Given the description of an element on the screen output the (x, y) to click on. 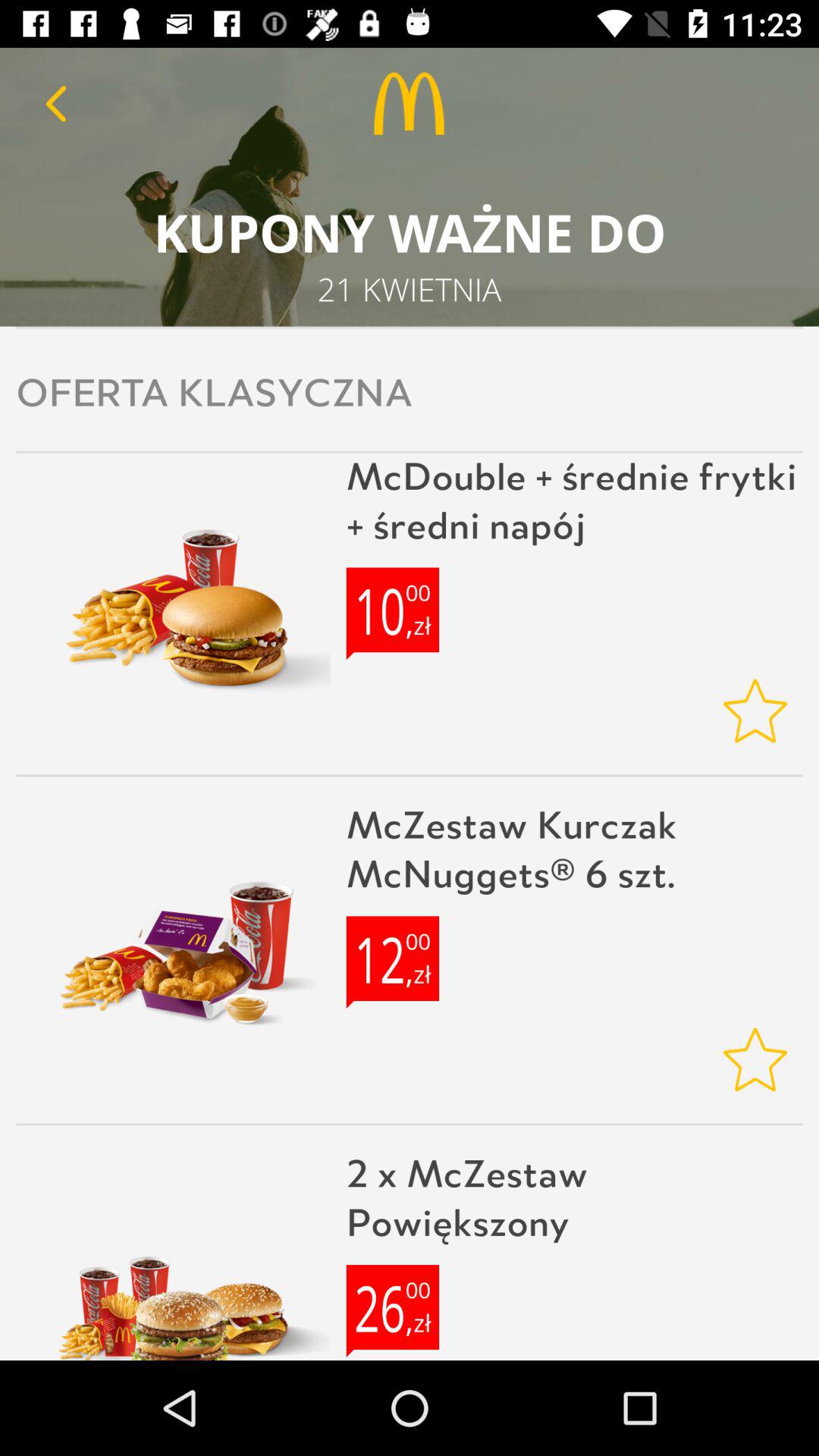
select the last but one image of the page (172, 949)
